Given the description of an element on the screen output the (x, y) to click on. 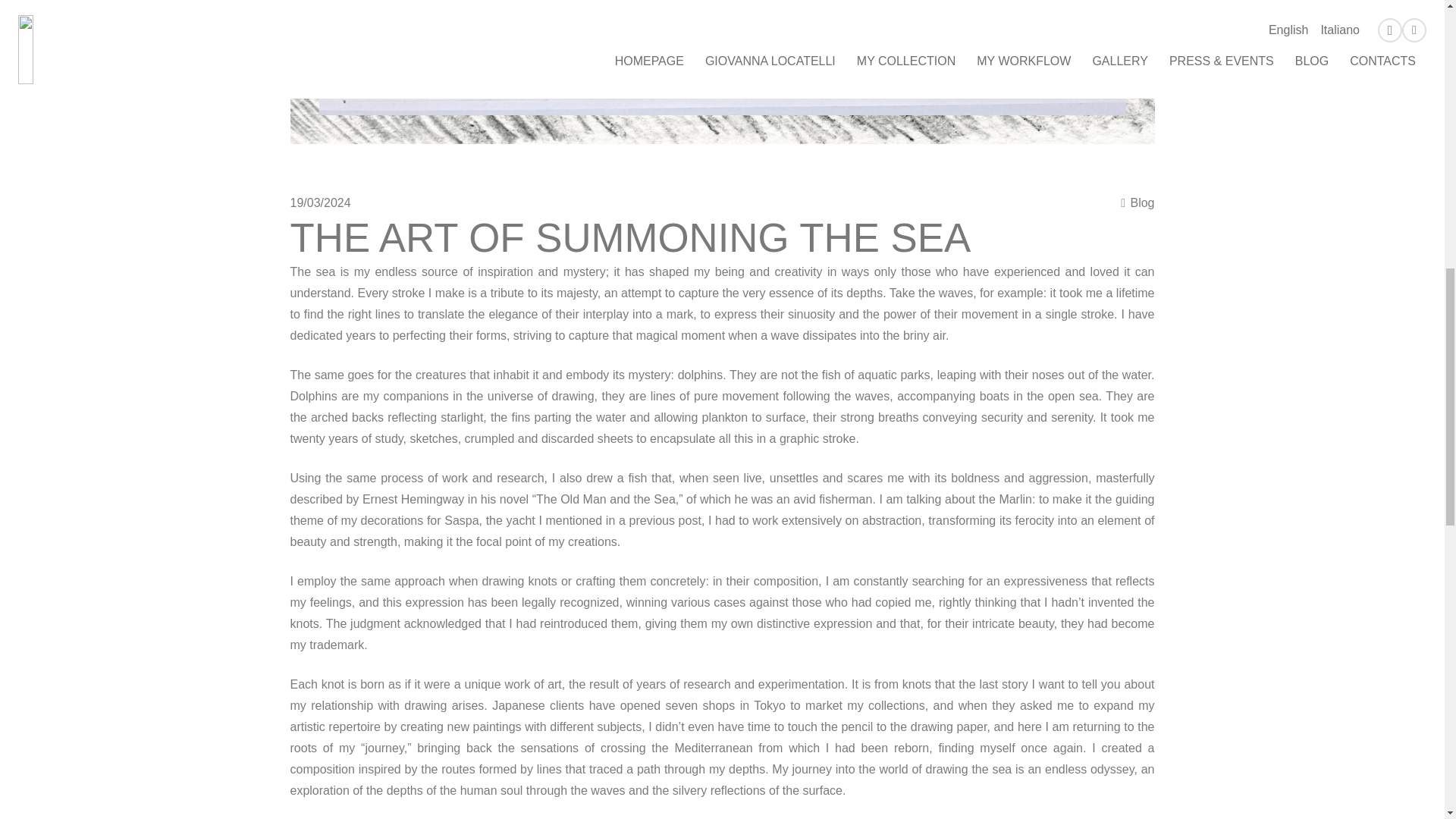
Blog (1137, 202)
a previous post (659, 520)
My workflow (1137, 202)
